Given the description of an element on the screen output the (x, y) to click on. 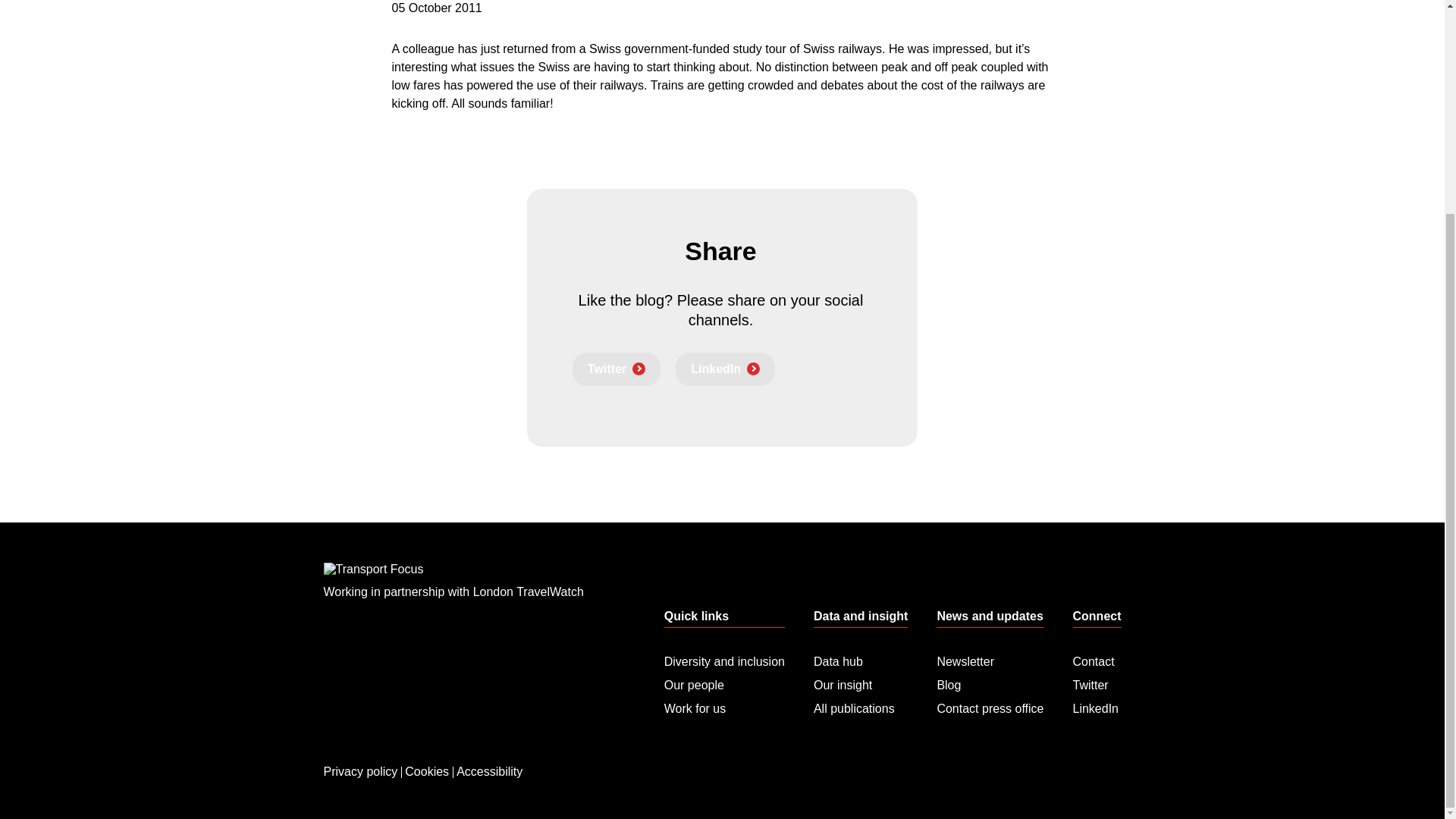
Twitter (1096, 680)
Our people (723, 680)
Working in partnership with London TravelWatch (453, 588)
Our insight (860, 680)
Newsletter (989, 661)
Work for us (723, 704)
Diversity and inclusion (723, 661)
Accessibility (488, 747)
LinkedIn (1096, 704)
Data hub (860, 661)
